Given the description of an element on the screen output the (x, y) to click on. 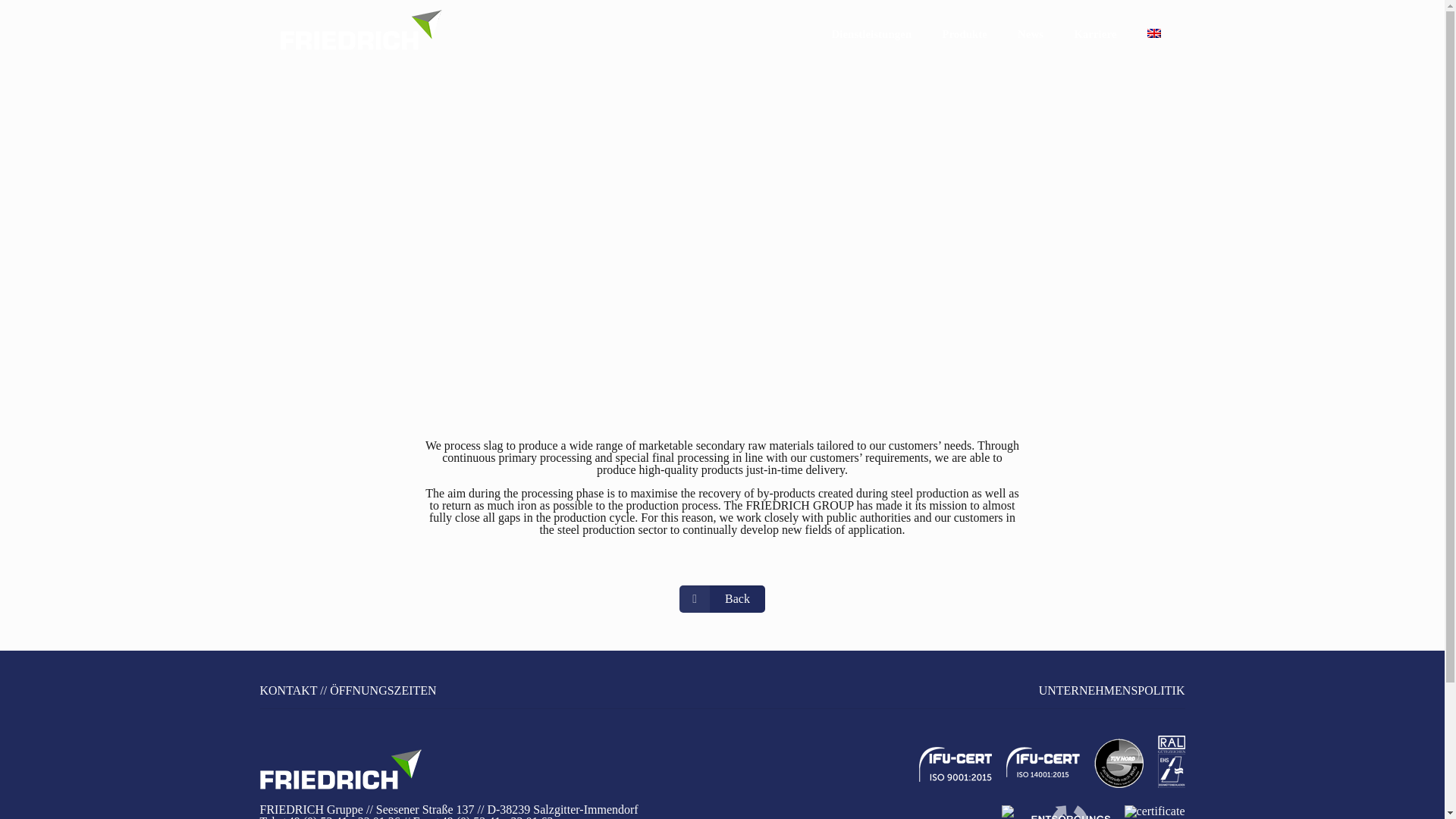
Produkte (964, 33)
FRIEDRICH (358, 35)
Back (722, 598)
KONTAKT (288, 689)
Karriere (1094, 33)
Dienstleistungen (870, 33)
UNTERNEHMENSPOLITIK (1112, 690)
